Given the description of an element on the screen output the (x, y) to click on. 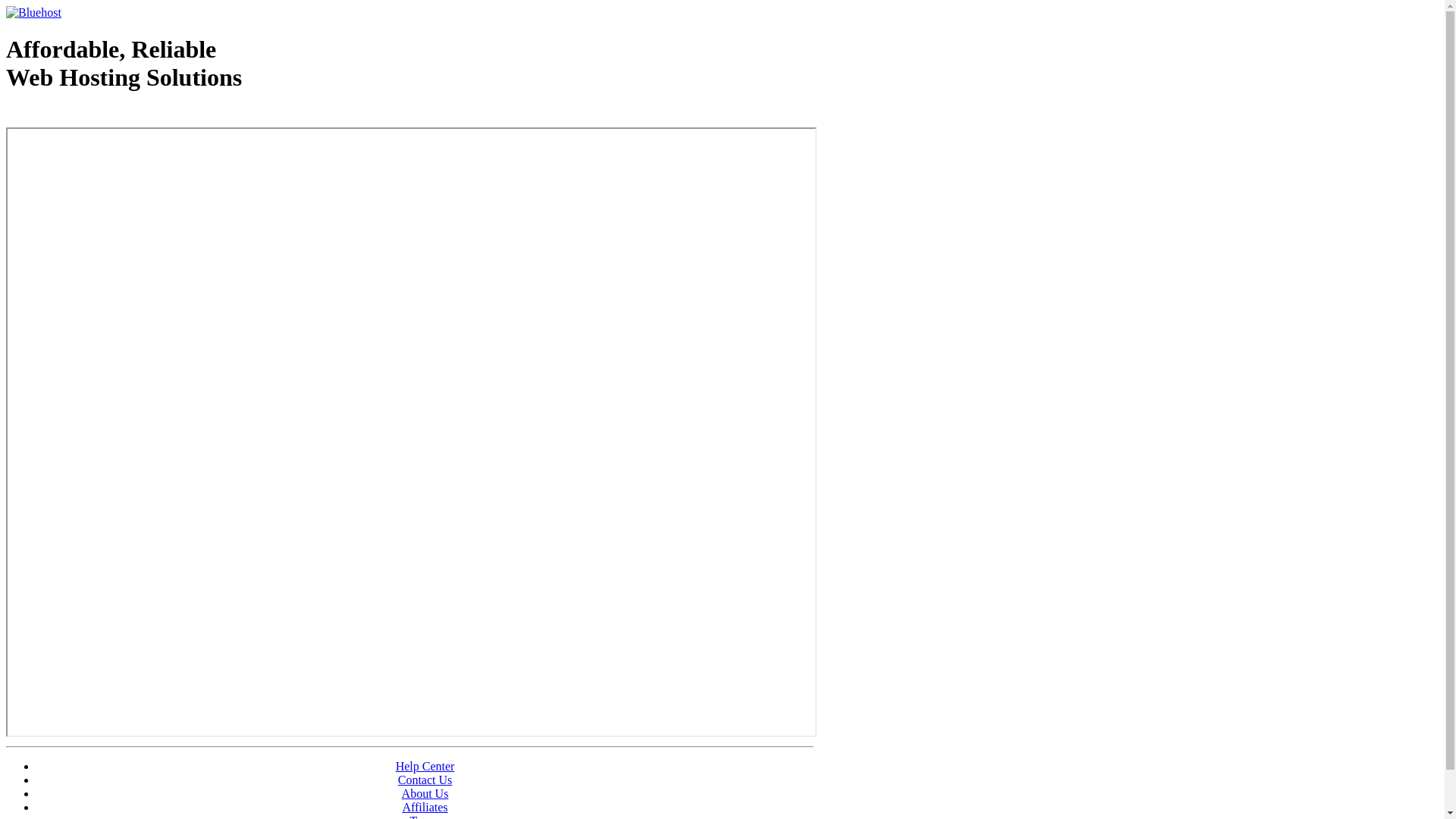
Contact Us Element type: text (425, 779)
Help Center Element type: text (425, 765)
Web Hosting - courtesy of www.bluehost.com Element type: text (94, 115)
Affiliates Element type: text (424, 806)
About Us Element type: text (424, 793)
